Given the description of an element on the screen output the (x, y) to click on. 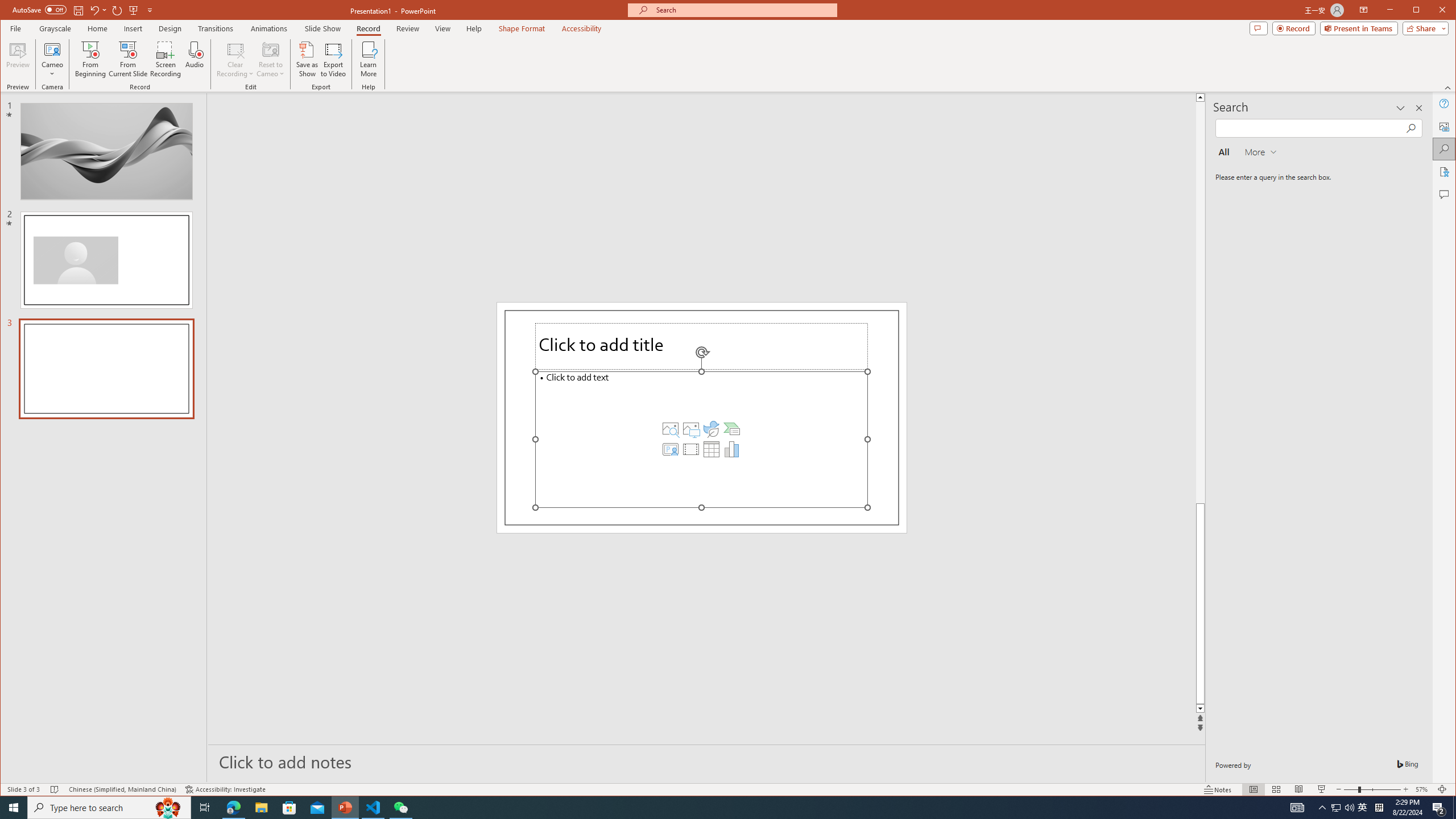
Learn More (368, 59)
Insert Table (710, 449)
Save as Show (307, 59)
Insert an Icon (710, 428)
